Given the description of an element on the screen output the (x, y) to click on. 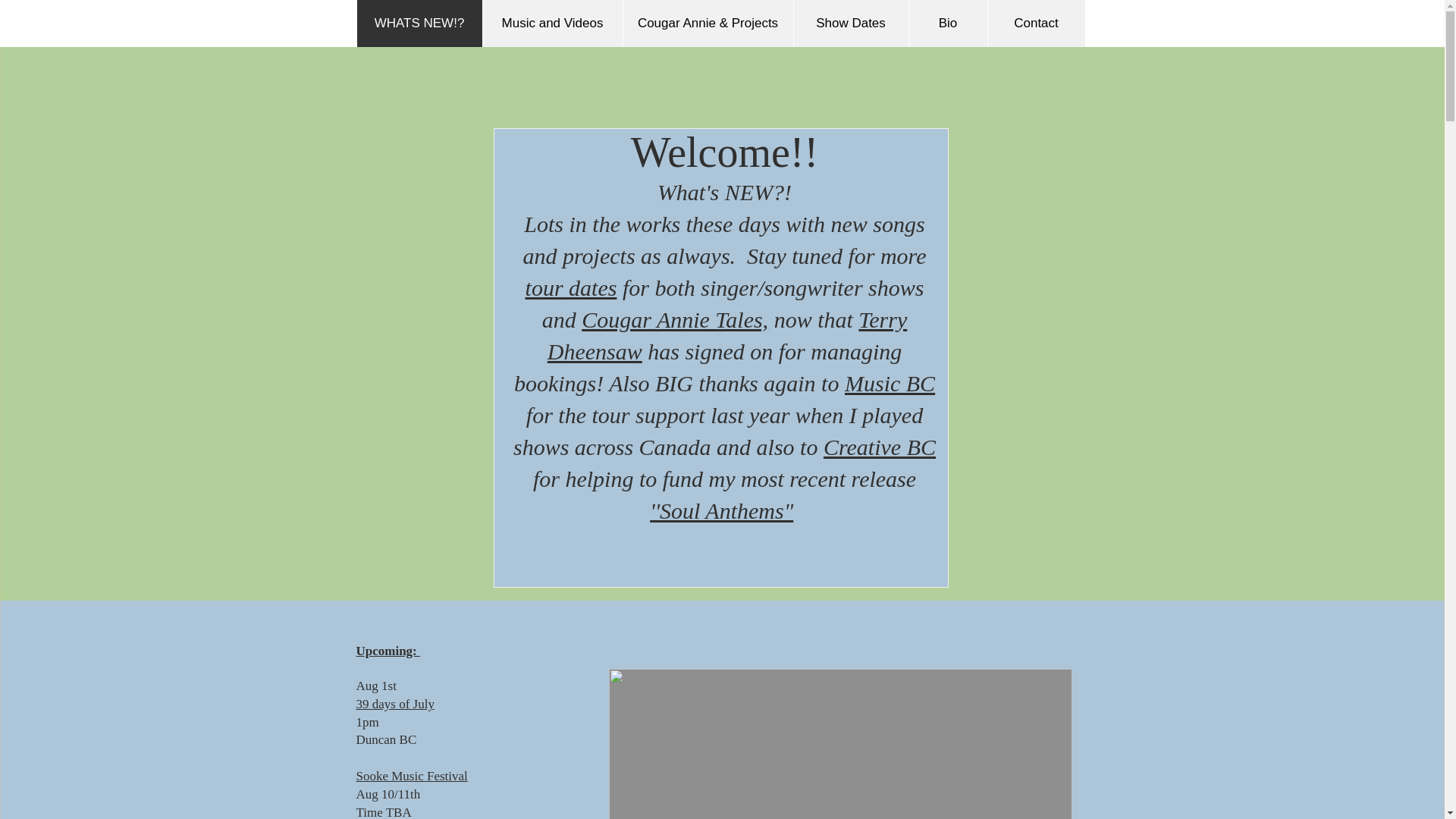
Music BC (889, 383)
''Soul Anthems" (721, 510)
39 days of July (394, 703)
Terry Dheensaw (727, 335)
Creative BC (880, 446)
Sooke Music Festival (411, 775)
tour dates (571, 287)
Show Dates (850, 23)
WHATS NEW!? (418, 23)
Cougar Annie Tales, (674, 319)
Contact (1035, 23)
Bio (947, 23)
Music and Videos (552, 23)
